Given the description of an element on the screen output the (x, y) to click on. 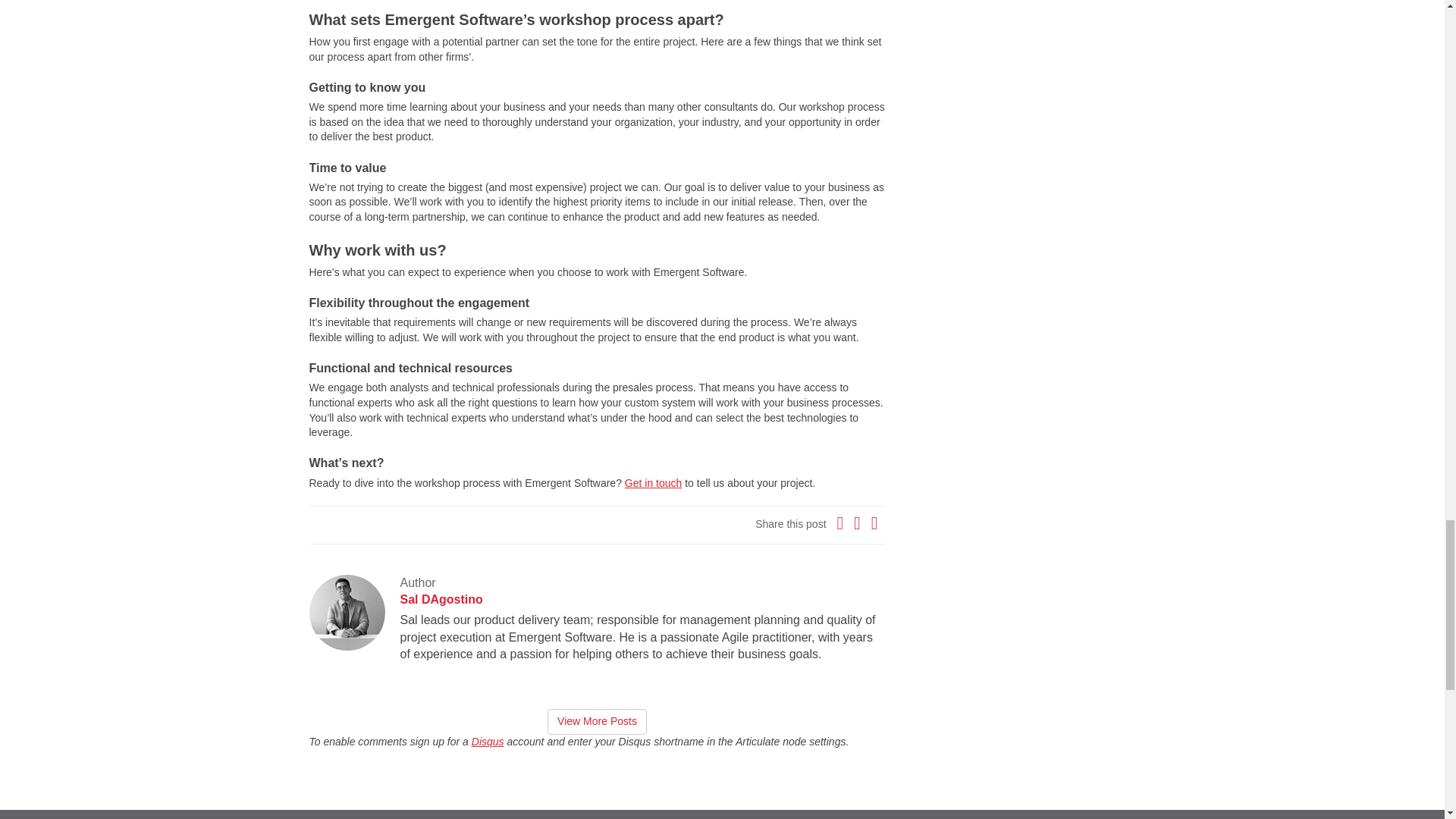
Get in touch (653, 482)
View More Posts (596, 721)
Disqus (487, 741)
Sal DAgostino (441, 599)
